Given the description of an element on the screen output the (x, y) to click on. 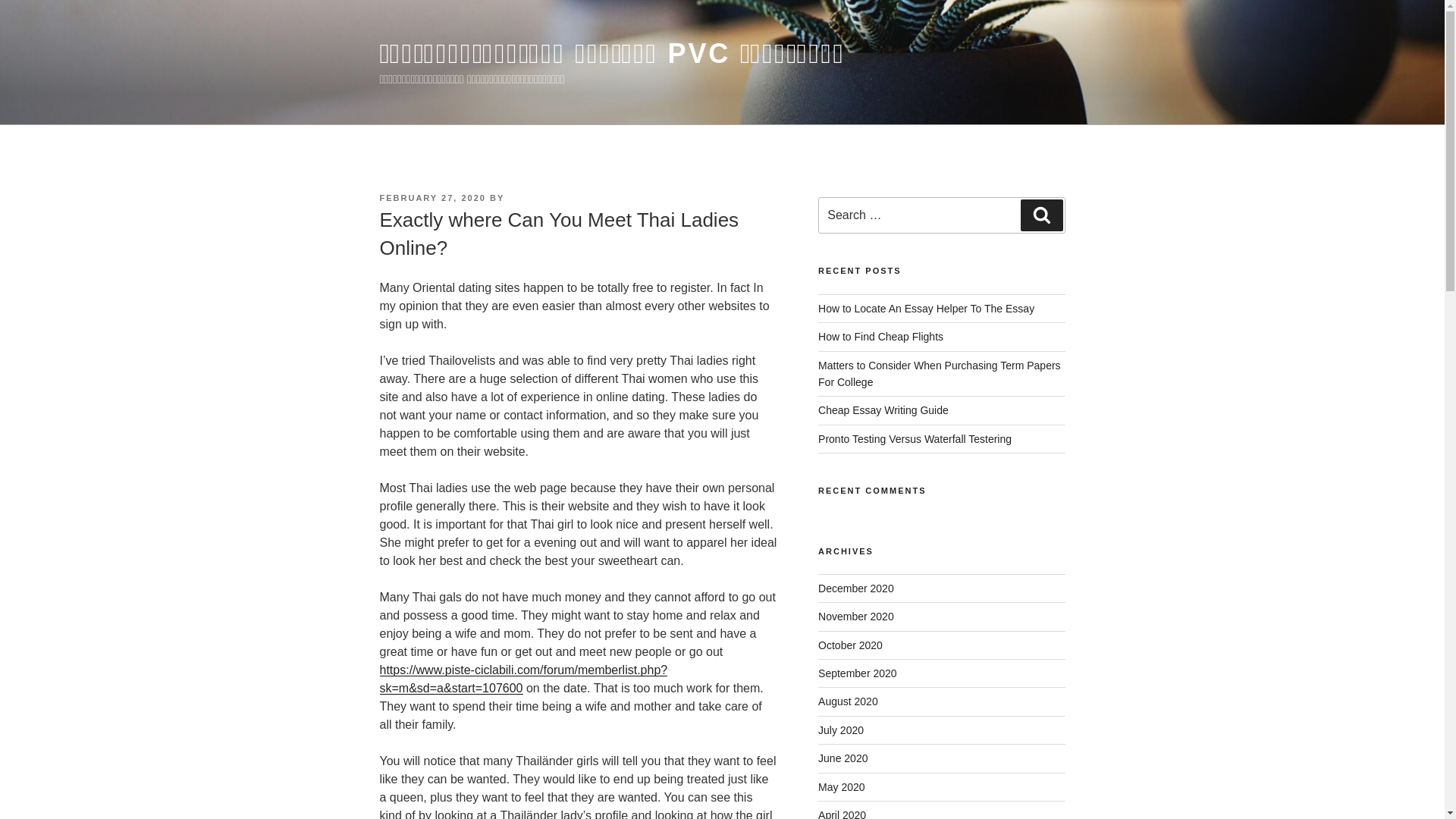
November 2020 (855, 616)
FEBRUARY 27, 2020 (431, 197)
October 2020 (850, 645)
May 2020 (841, 787)
December 2020 (855, 588)
How to Find Cheap Flights (880, 336)
Search (1041, 214)
July 2020 (840, 729)
September 2020 (857, 673)
Cheap Essay Writing Guide (883, 410)
August 2020 (847, 701)
Matters to Consider When Purchasing Term Papers For College (939, 373)
How to Locate An Essay Helper To The Essay (925, 308)
April 2020 (842, 814)
Pronto Testing Versus Waterfall Testering (914, 439)
